Given the description of an element on the screen output the (x, y) to click on. 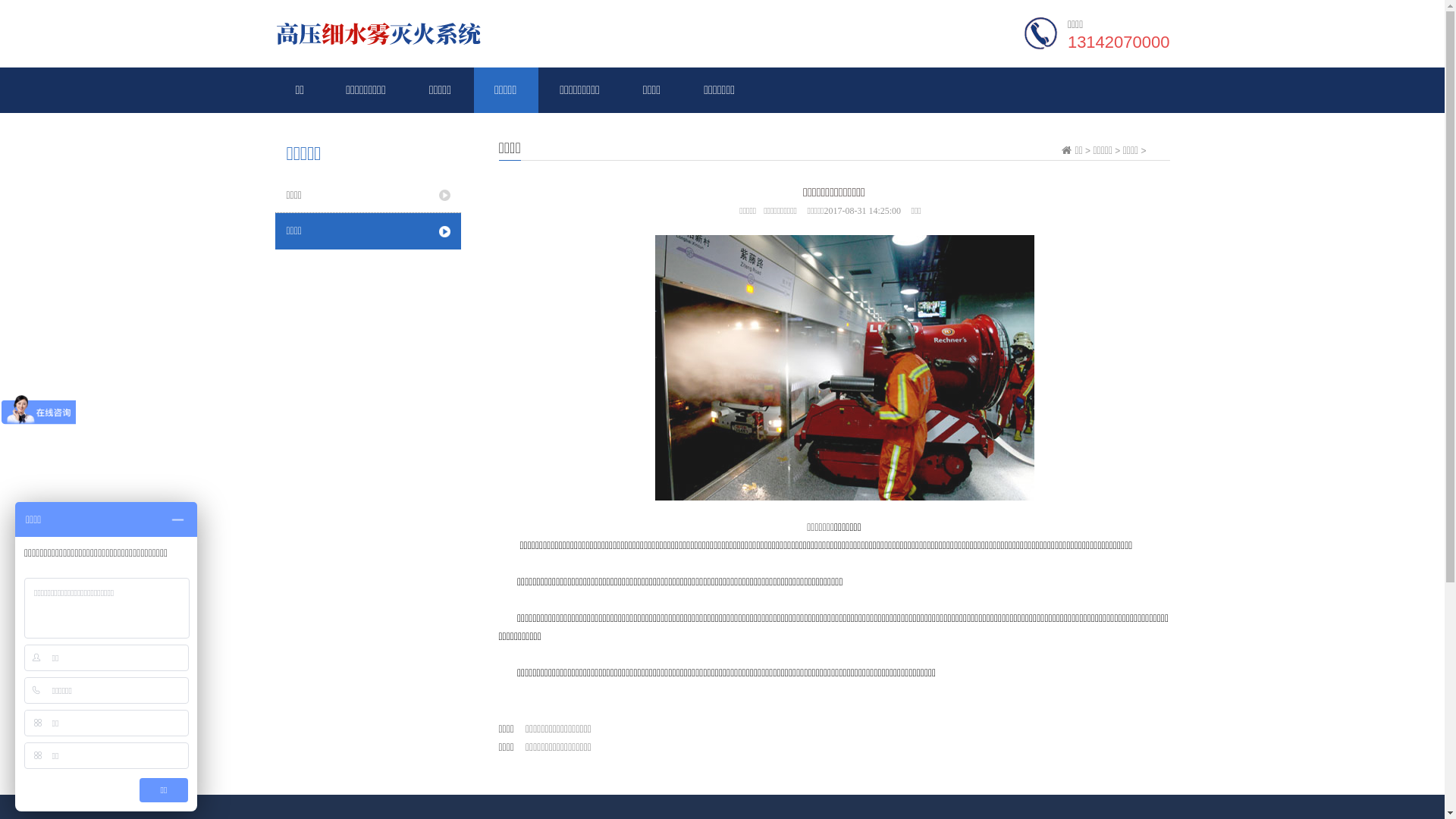
13142070000 Element type: text (1118, 41)
